Given the description of an element on the screen output the (x, y) to click on. 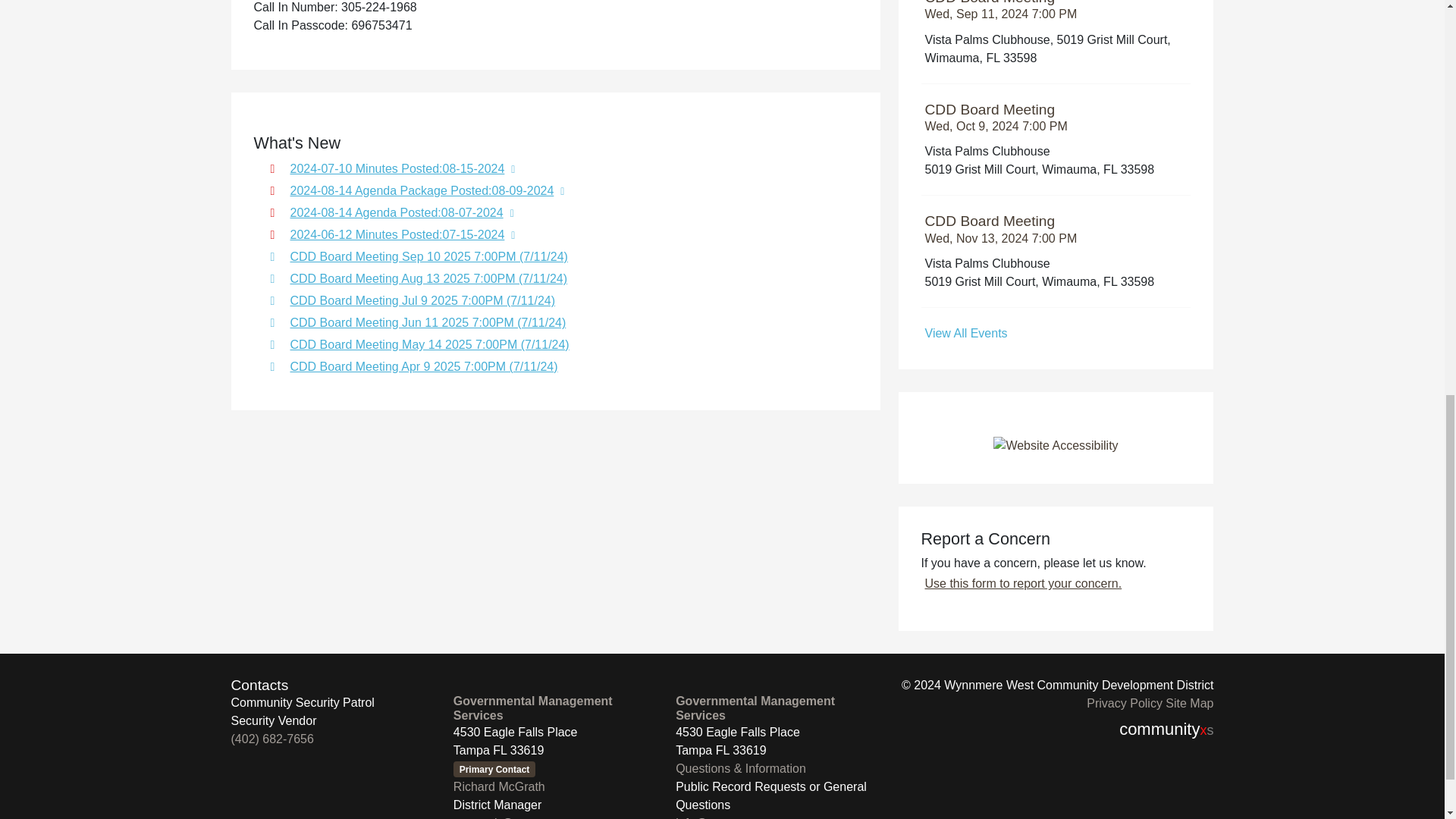
2024-07-10 Minutes Posted:08-15-2024 (1055, 229)
View All Events (1055, 118)
2024-08-14 Agenda Package Posted:08-09-2024 (560, 167)
2024-06-12 Minutes Posted:07-15-2024 (1055, 333)
2024-08-14 Agenda Posted:08-07-2024 (560, 189)
